Given the description of an element on the screen output the (x, y) to click on. 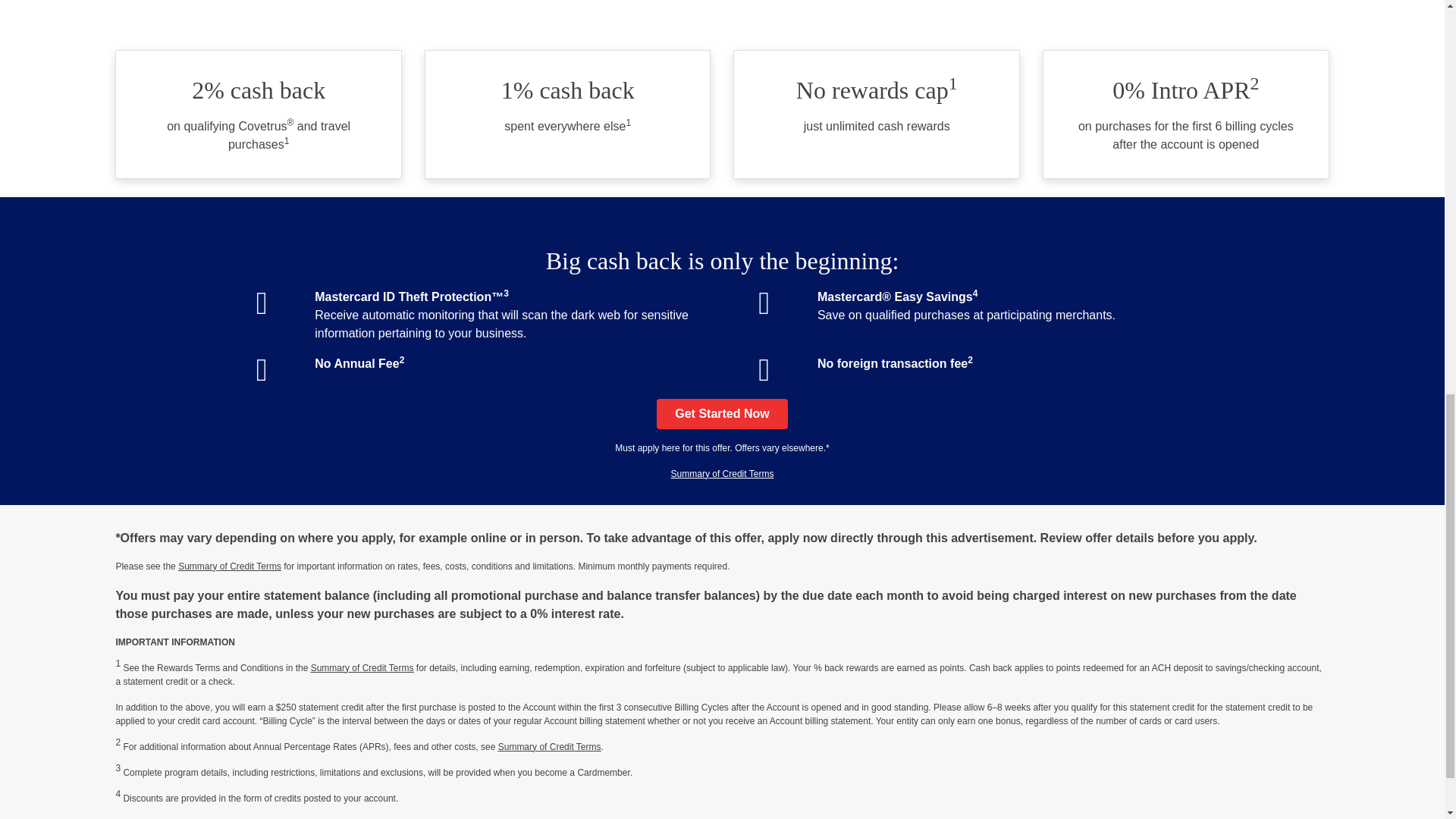
Summary of Credit Terms (722, 473)
Summary of Credit Terms (229, 566)
Get Started Now (721, 413)
Get Started Now (721, 413)
Summary of Credit Terms (362, 667)
Summary of Credit Terms (549, 747)
Summary of Credit Terms (722, 473)
